Given the description of an element on the screen output the (x, y) to click on. 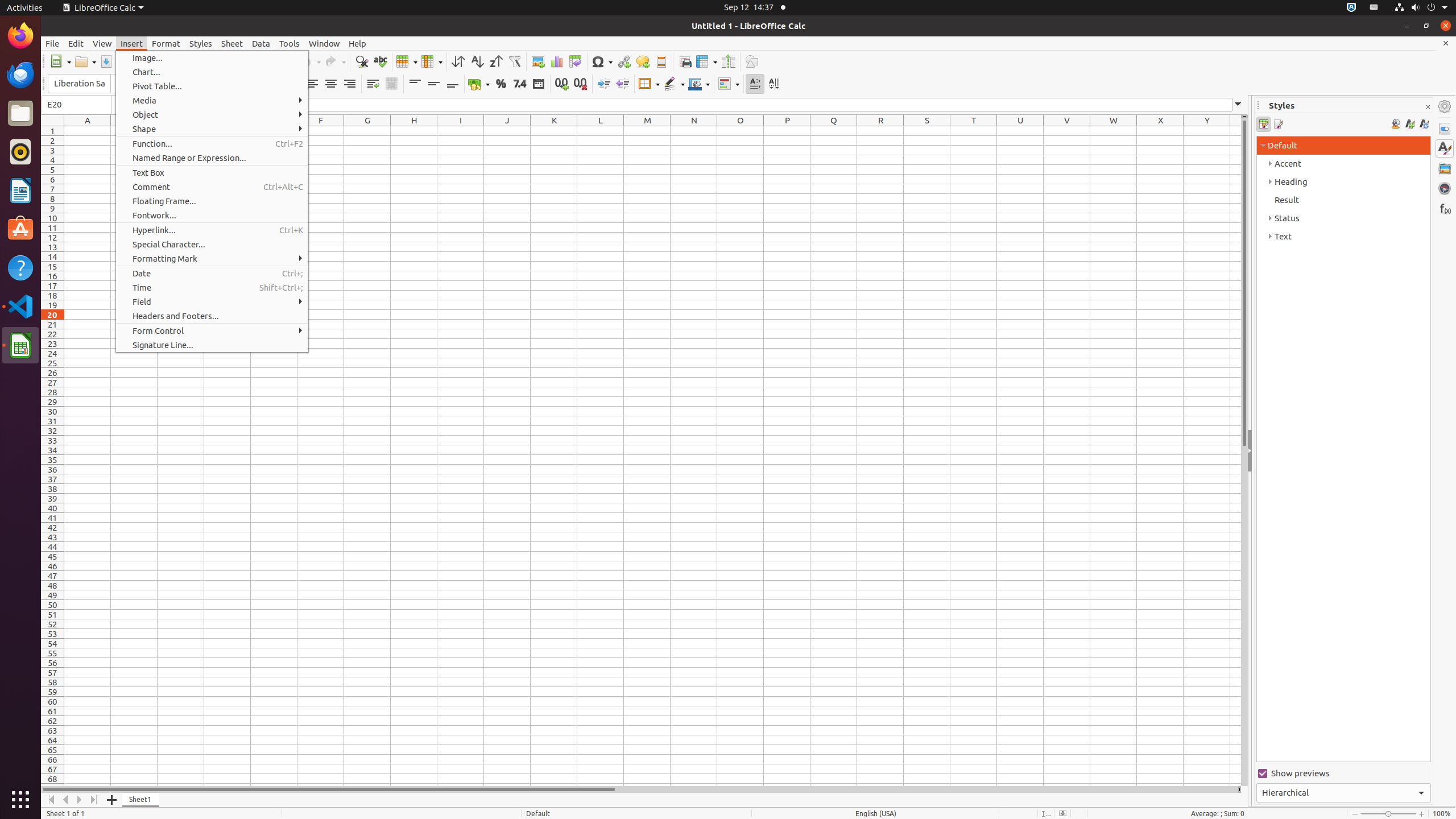
Help Element type: menu (357, 43)
Files Element type: push-button (20, 113)
P1 Element type: table-cell (786, 130)
Sort Ascending Element type: push-button (476, 61)
Time Element type: menu-item (212, 287)
